Given the description of an element on the screen output the (x, y) to click on. 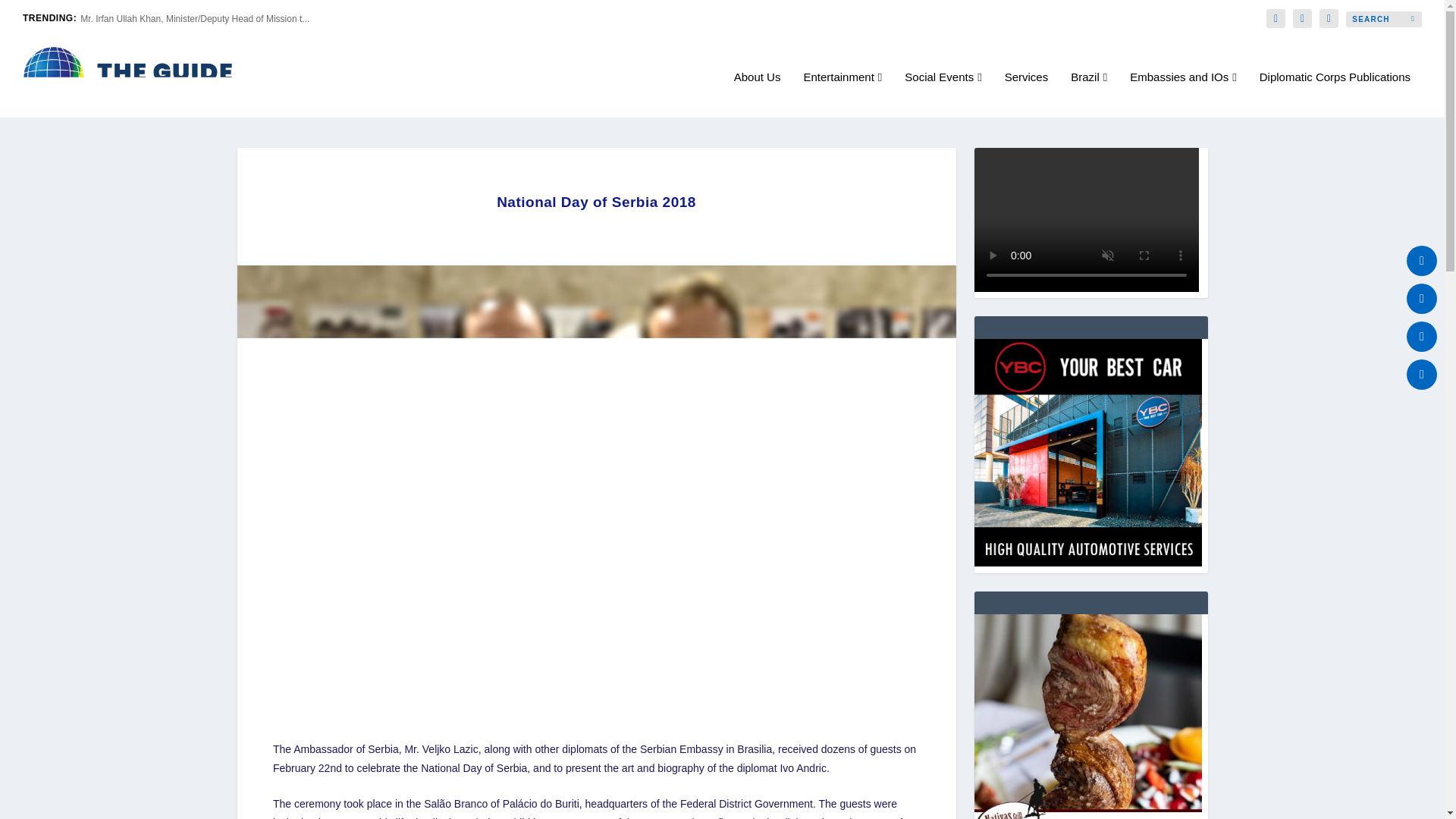
About Us (756, 94)
Search for: (1383, 19)
Entertainment (842, 94)
Social Events (942, 94)
